Given the description of an element on the screen output the (x, y) to click on. 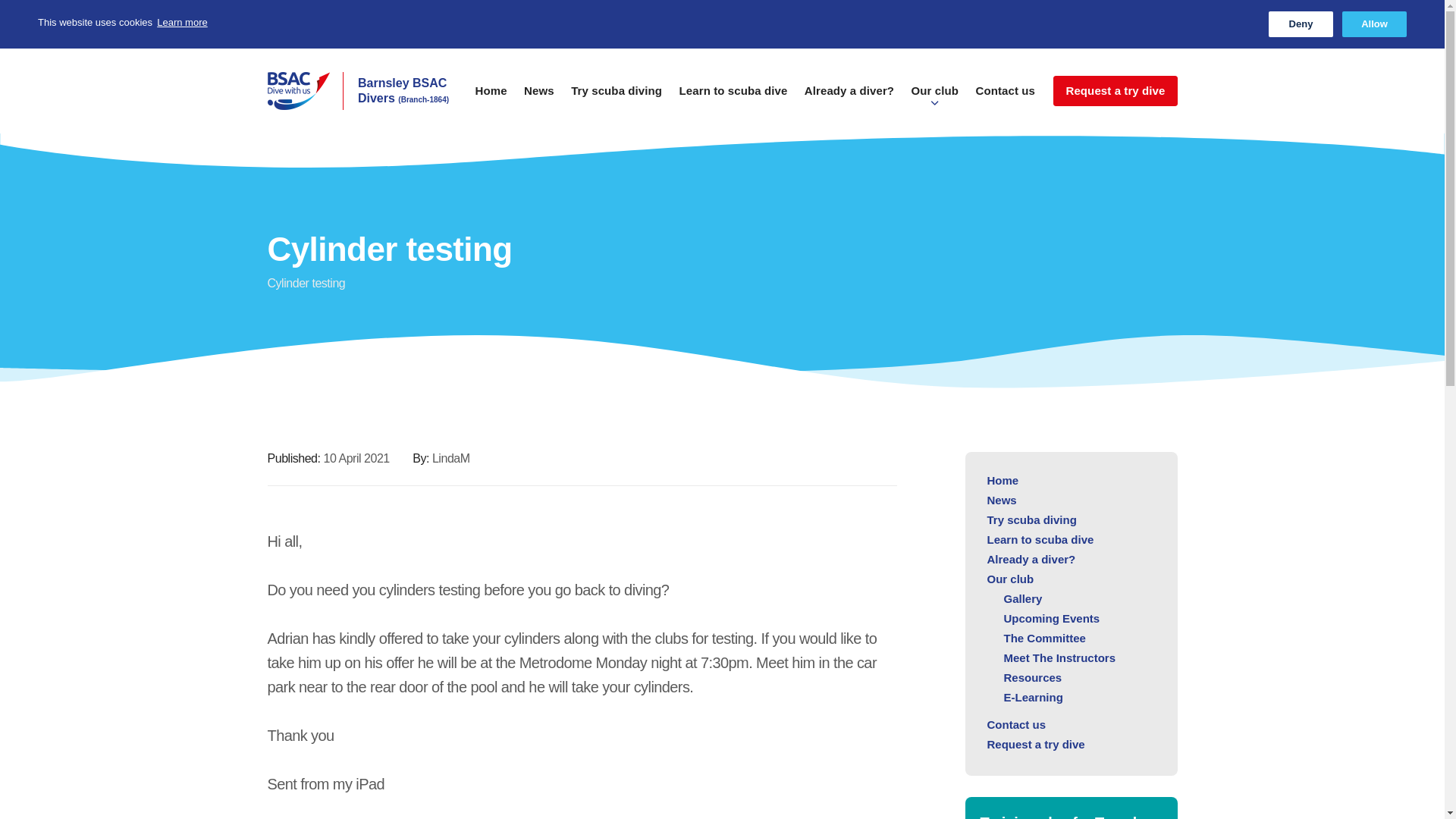
Allow (1374, 23)
Home (1003, 480)
Learn to scuba dive (733, 98)
Try scuba diving (1032, 519)
Already a diver? (849, 98)
Our club (934, 98)
Home (491, 98)
Try scuba diving (616, 98)
Already a diver? (1031, 558)
Learn to scuba dive (1040, 539)
Request a try dive (1114, 91)
Learn more (182, 22)
Contact us (1005, 98)
News (539, 98)
Deny (1300, 23)
